Given the description of an element on the screen output the (x, y) to click on. 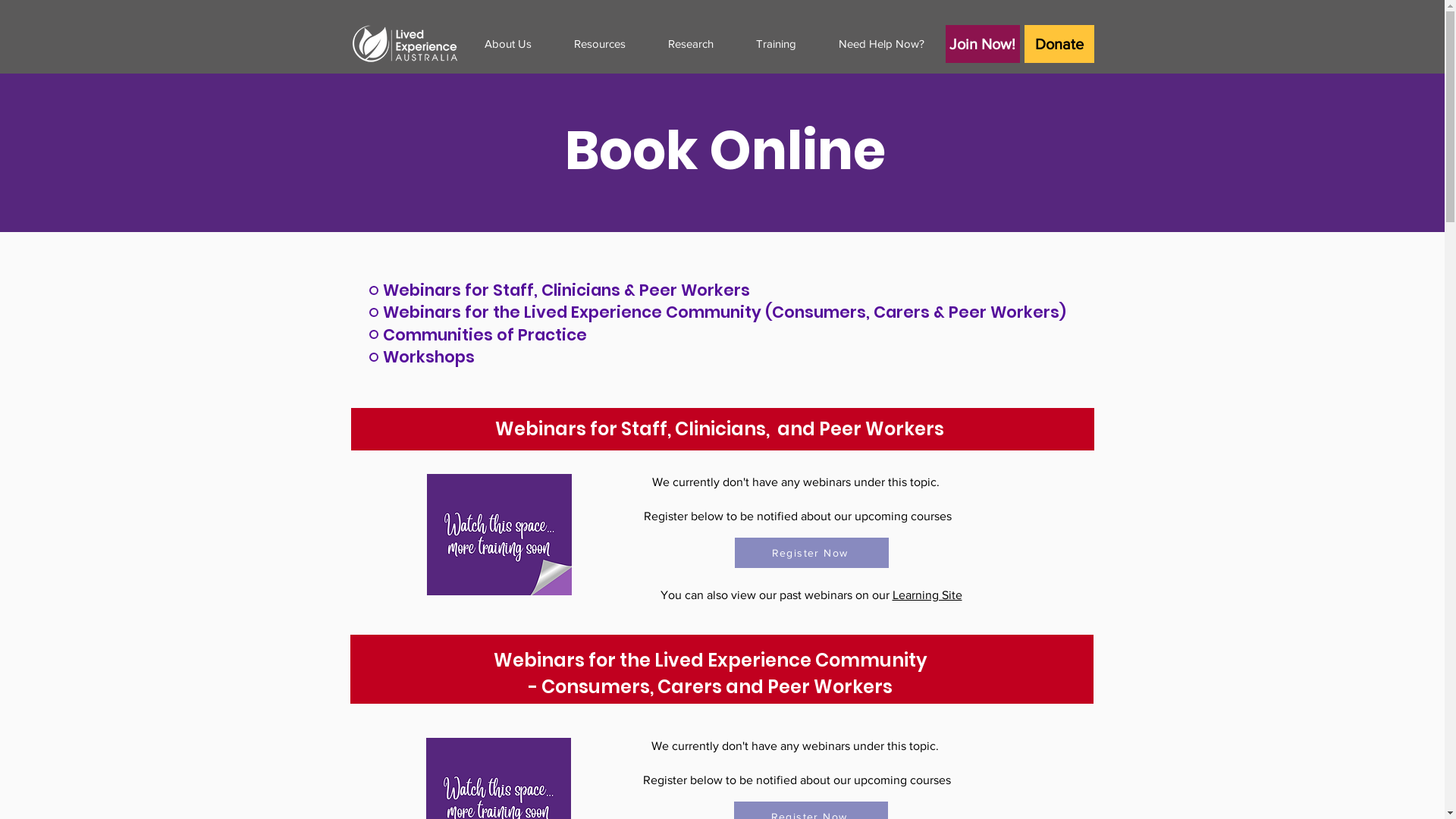
Learning Site Element type: text (926, 594)
Sign up to be notified Element type: text (721, 719)
Donate Element type: text (1058, 43)
Join Now! Element type: text (981, 43)
Register Now Element type: text (811, 552)
Webinars for Staff, Clinicians & Peer Workers Element type: text (710, 290)
Communities of Practice Element type: text (710, 334)
Workshops Element type: text (710, 356)
